Given the description of an element on the screen output the (x, y) to click on. 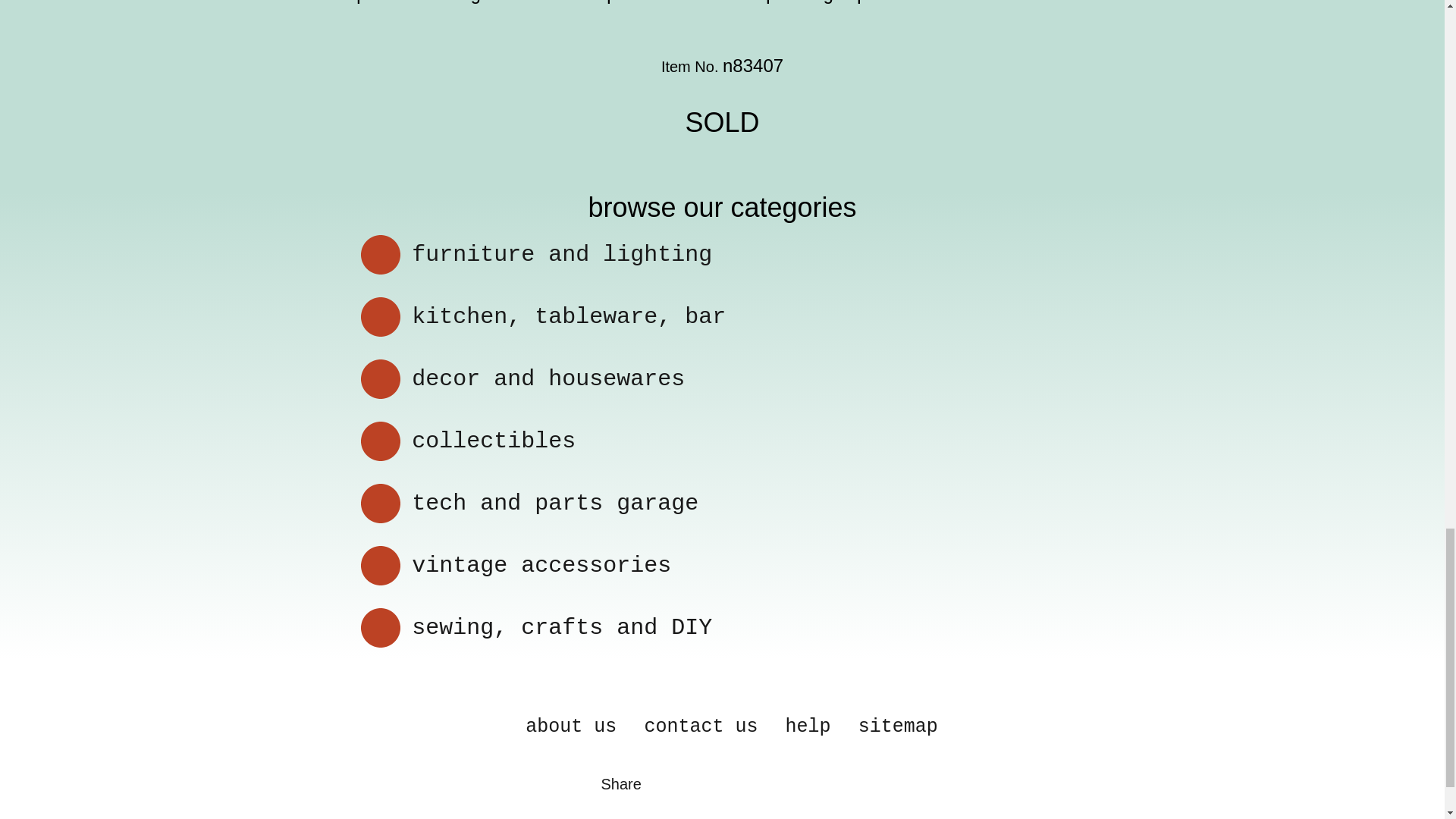
Share (619, 783)
help (808, 726)
tech and parts garage (555, 503)
sewing, crafts and DIY (561, 627)
vintage accessories (541, 565)
sitemap (898, 726)
decor and housewares (548, 379)
collectibles (493, 441)
kitchen, tableware, bar (568, 316)
about us (570, 726)
furniture and lighting (561, 254)
contact us (700, 726)
